Given the description of an element on the screen output the (x, y) to click on. 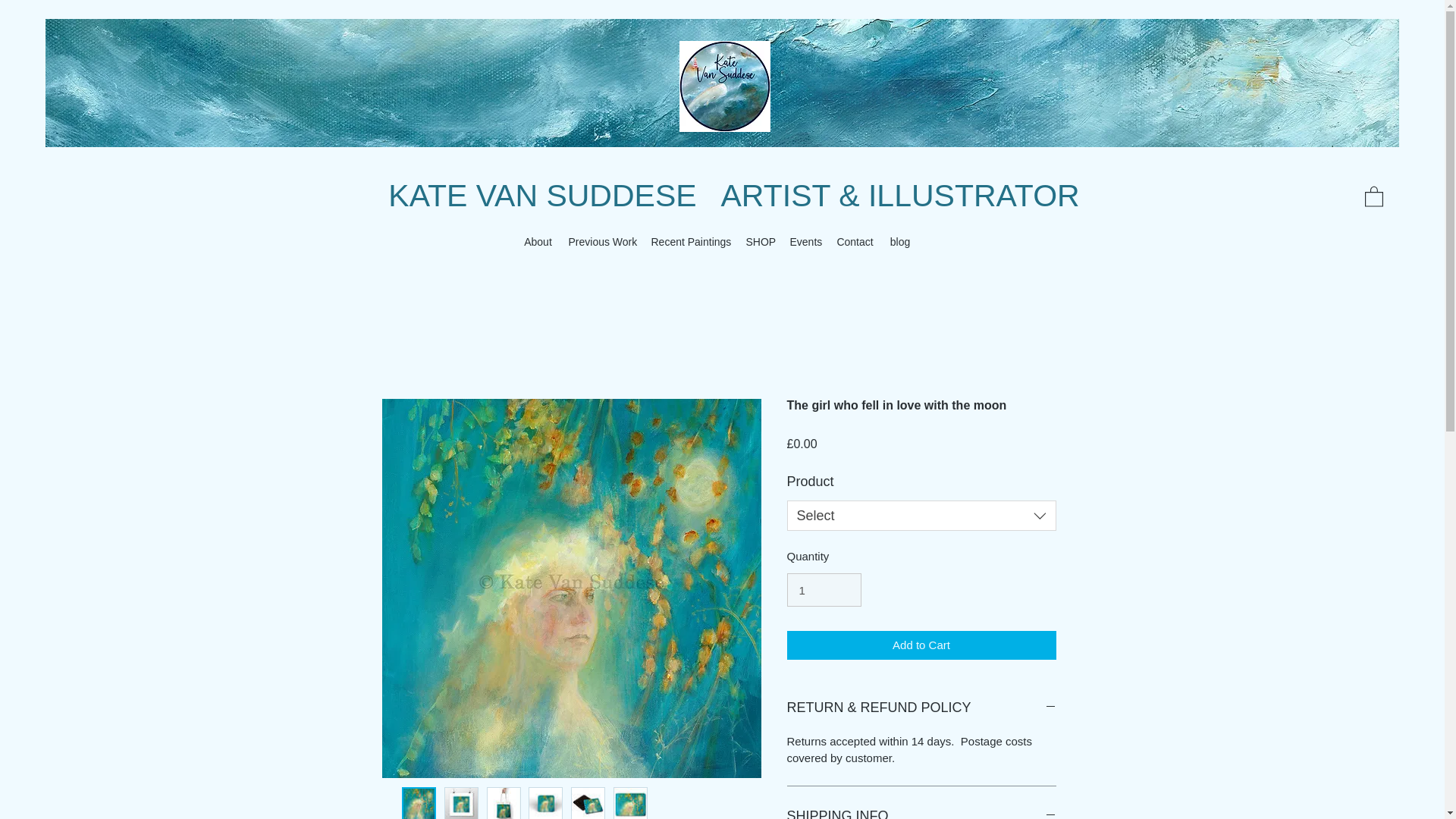
Add to Cart (922, 645)
1 (824, 589)
Select (922, 515)
Contact (854, 241)
Previous Work (601, 241)
SHIPPING INFO (922, 811)
Recent Paintings (690, 241)
